Given the description of an element on the screen output the (x, y) to click on. 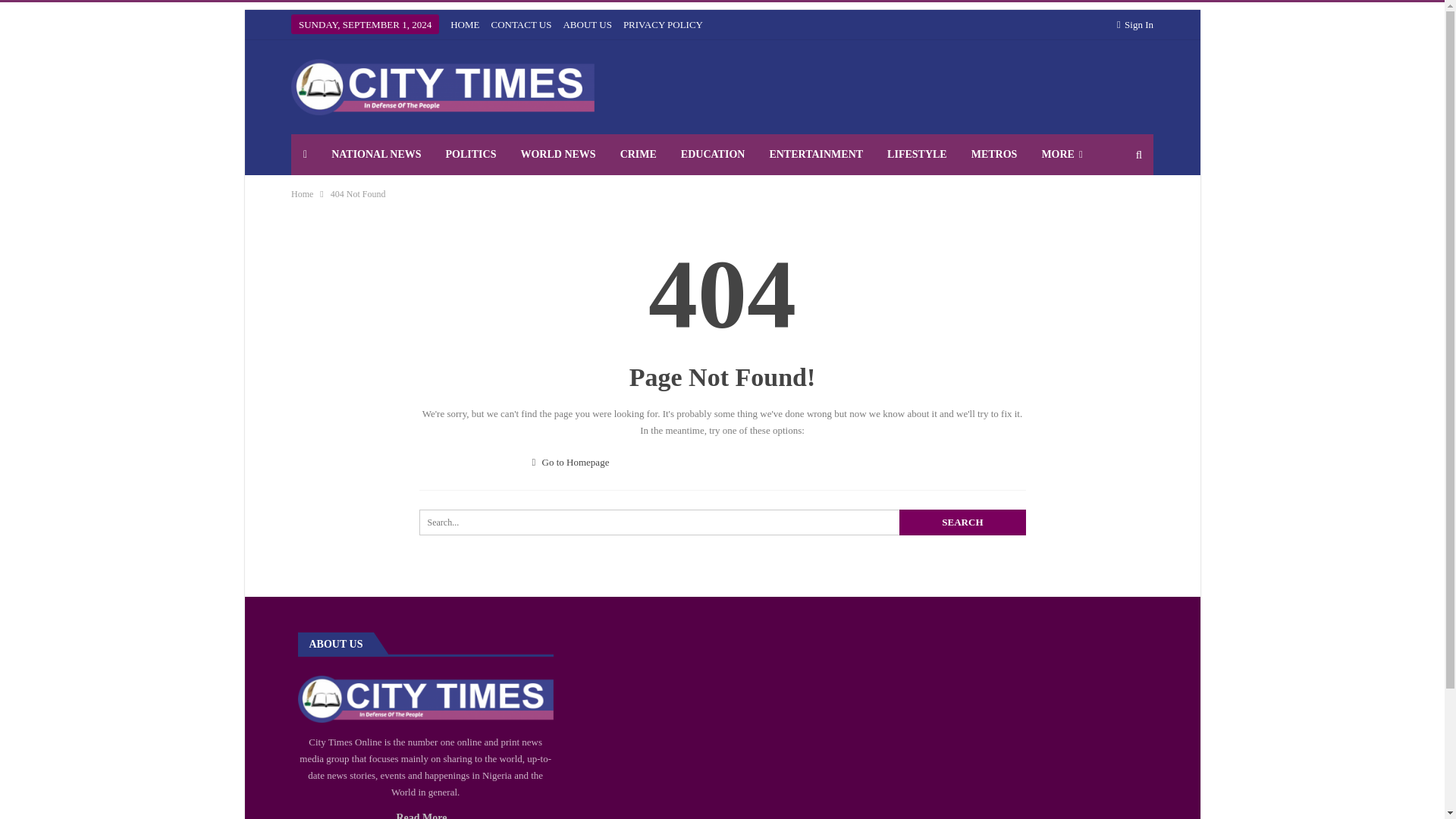
MORE (1061, 154)
Search (962, 522)
Search (962, 522)
POLITICS (470, 154)
Search for: (722, 522)
WORLD NEWS (557, 154)
CRIME (638, 154)
METROS (994, 154)
Read More... (425, 815)
HOME (464, 24)
